Given the description of an element on the screen output the (x, y) to click on. 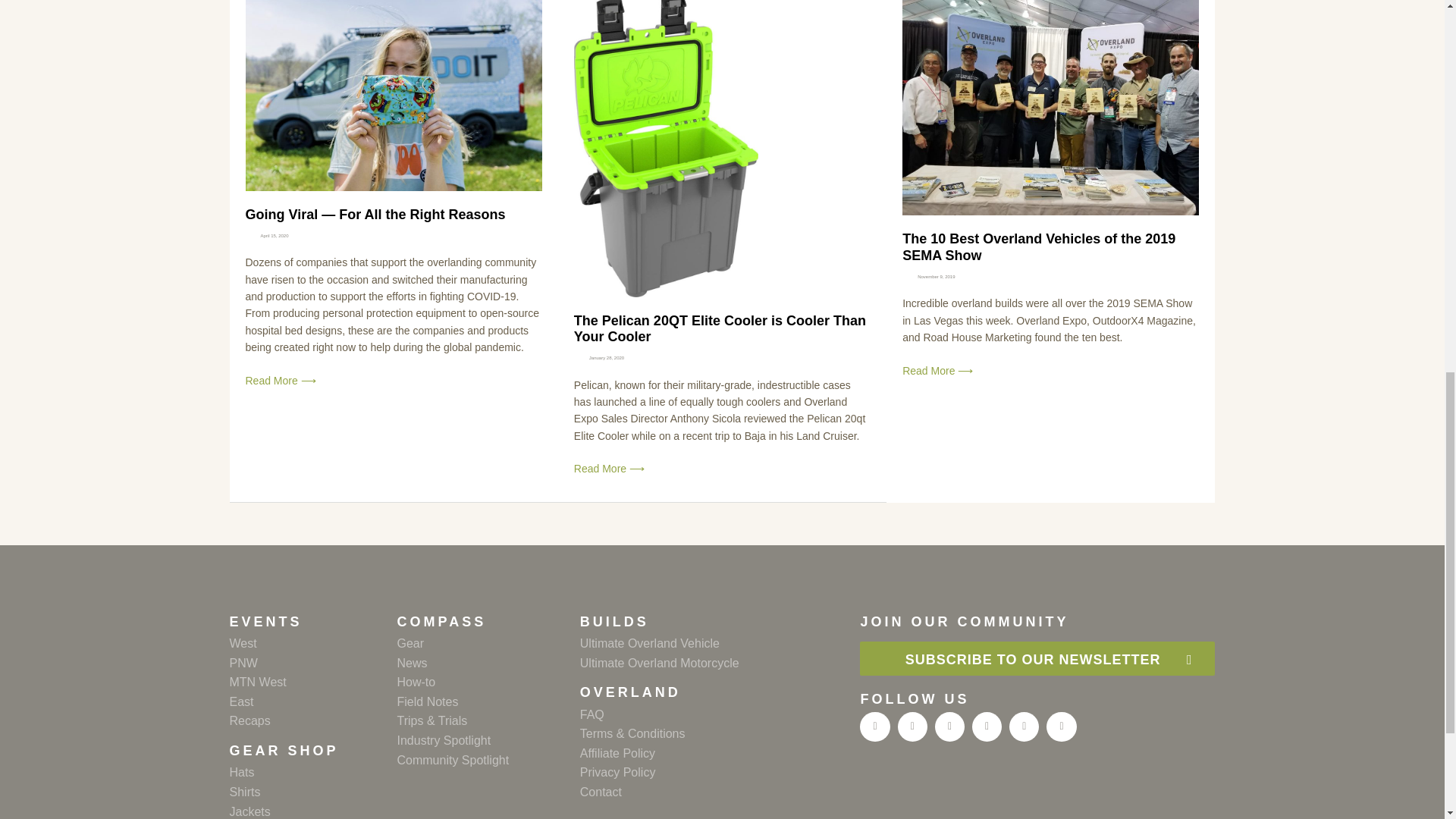
Recaps (312, 721)
The Pelican 20QT Elite Cooler is Cooler Than Your Cooler (719, 328)
PNW (312, 663)
West (312, 643)
The 10 Best Overland Vehicles of the 2019 SEMA Show (1038, 246)
Hats (312, 772)
MTN West (312, 682)
East (312, 701)
